Given the description of an element on the screen output the (x, y) to click on. 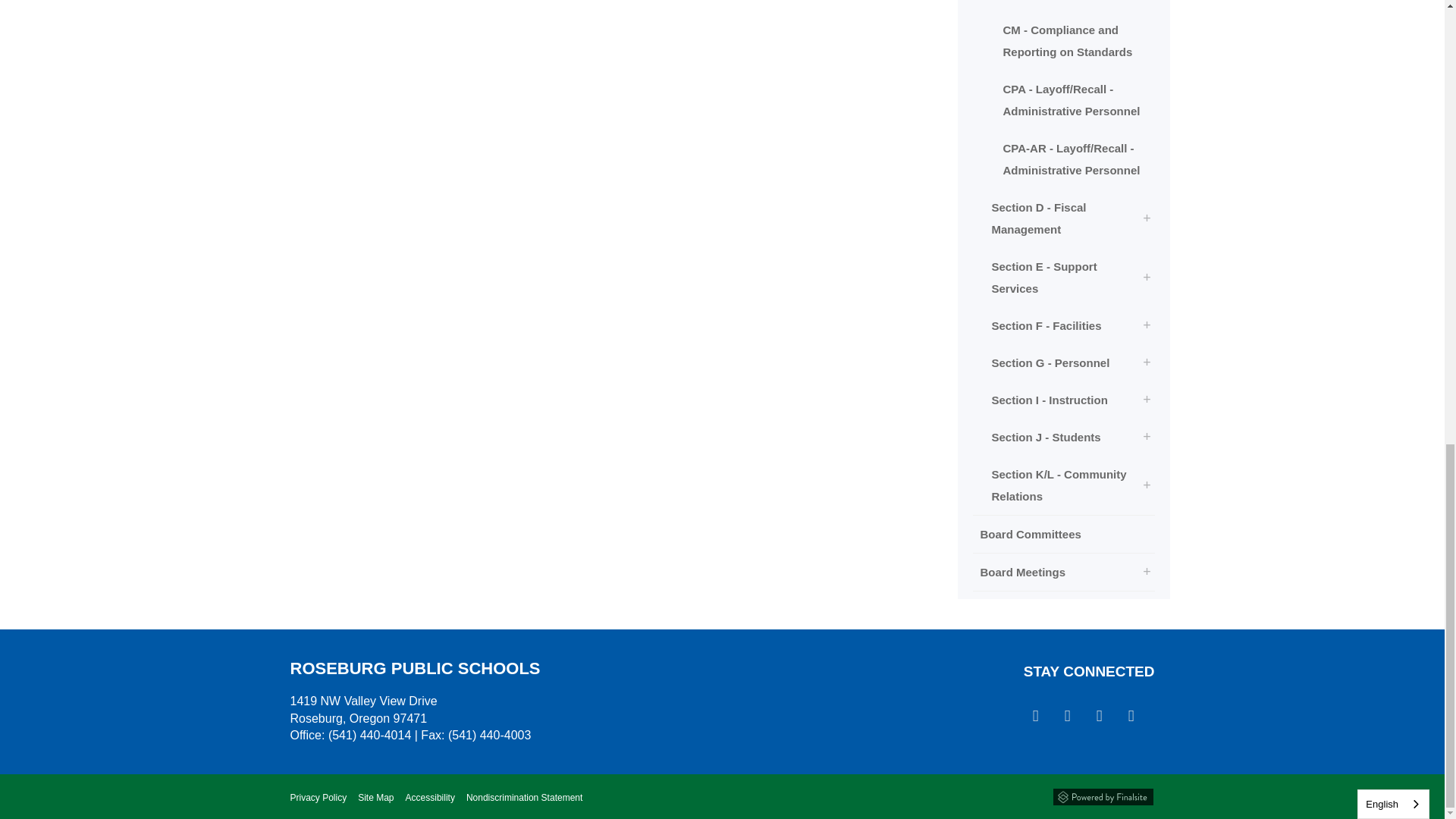
Powered by Finalsite opens in a new window (1103, 796)
